Given the description of an element on the screen output the (x, y) to click on. 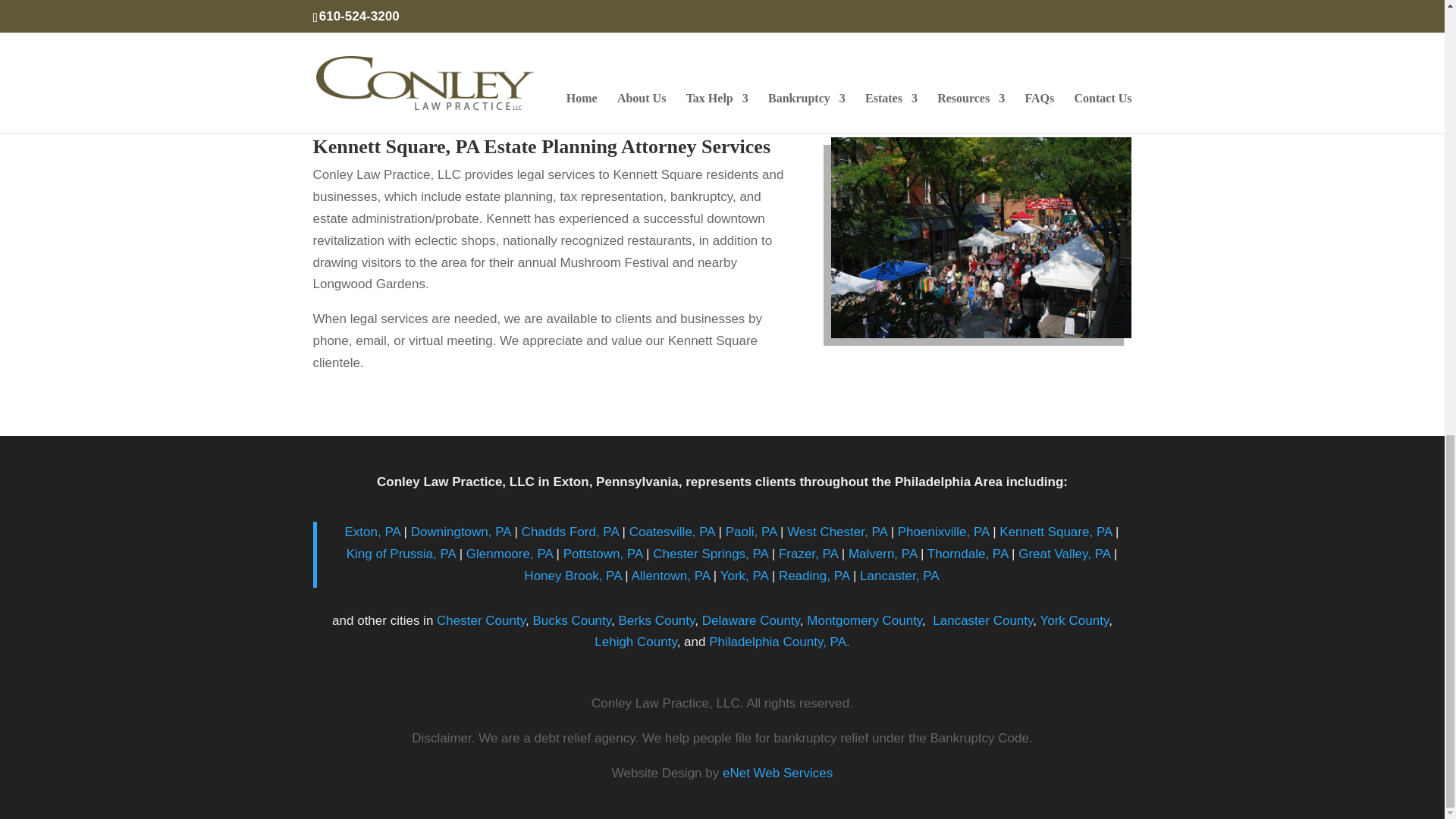
Kennett Square, PA Estate Planning Attorney (981, 237)
